Given the description of an element on the screen output the (x, y) to click on. 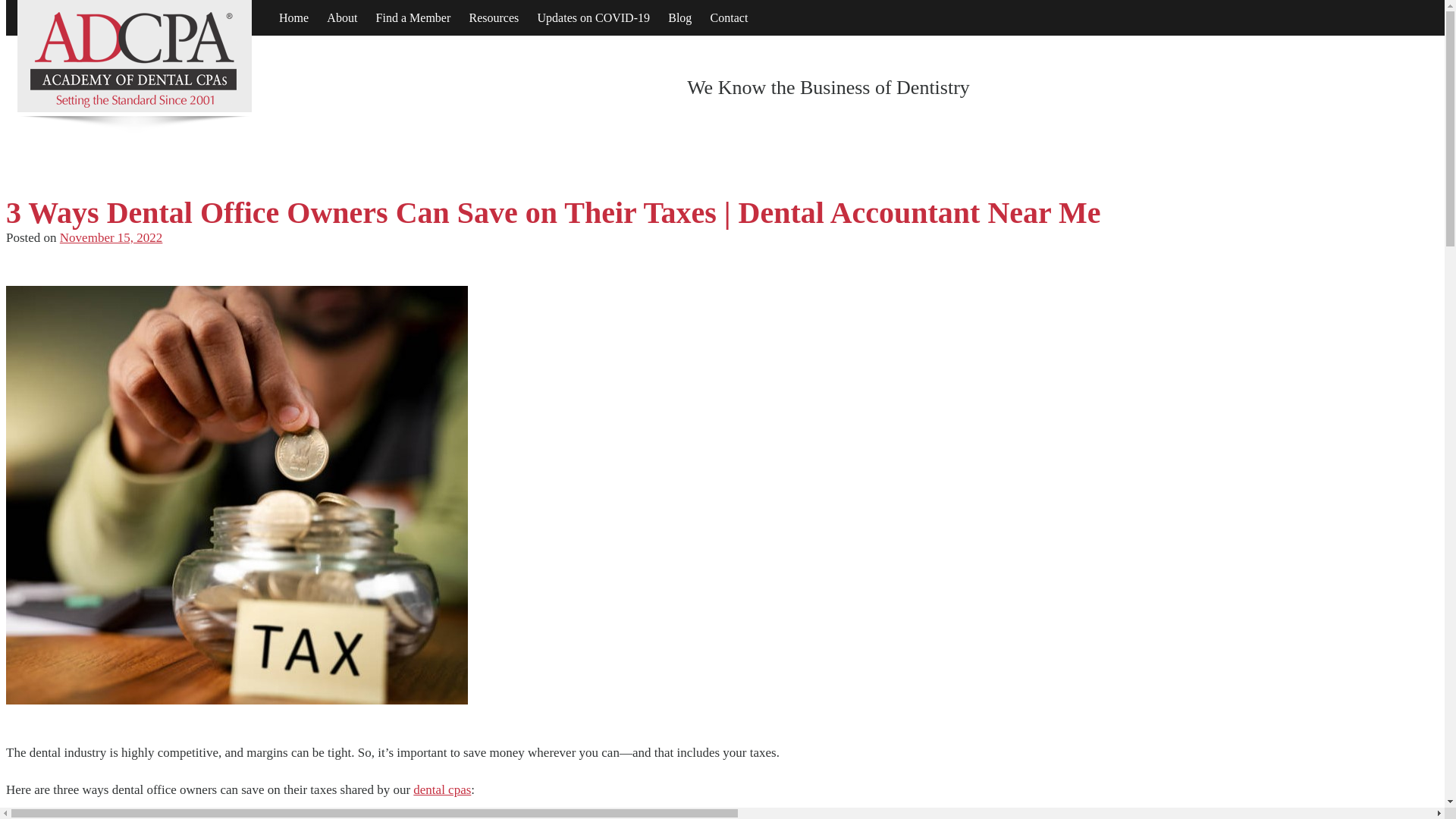
dental cpas (441, 789)
November 15, 2022 (111, 237)
Updates on COVID-19 (593, 18)
Home (292, 18)
Contact (729, 18)
Blog (679, 18)
About (341, 18)
Resources (494, 18)
Find a Member (413, 18)
